Given the description of an element on the screen output the (x, y) to click on. 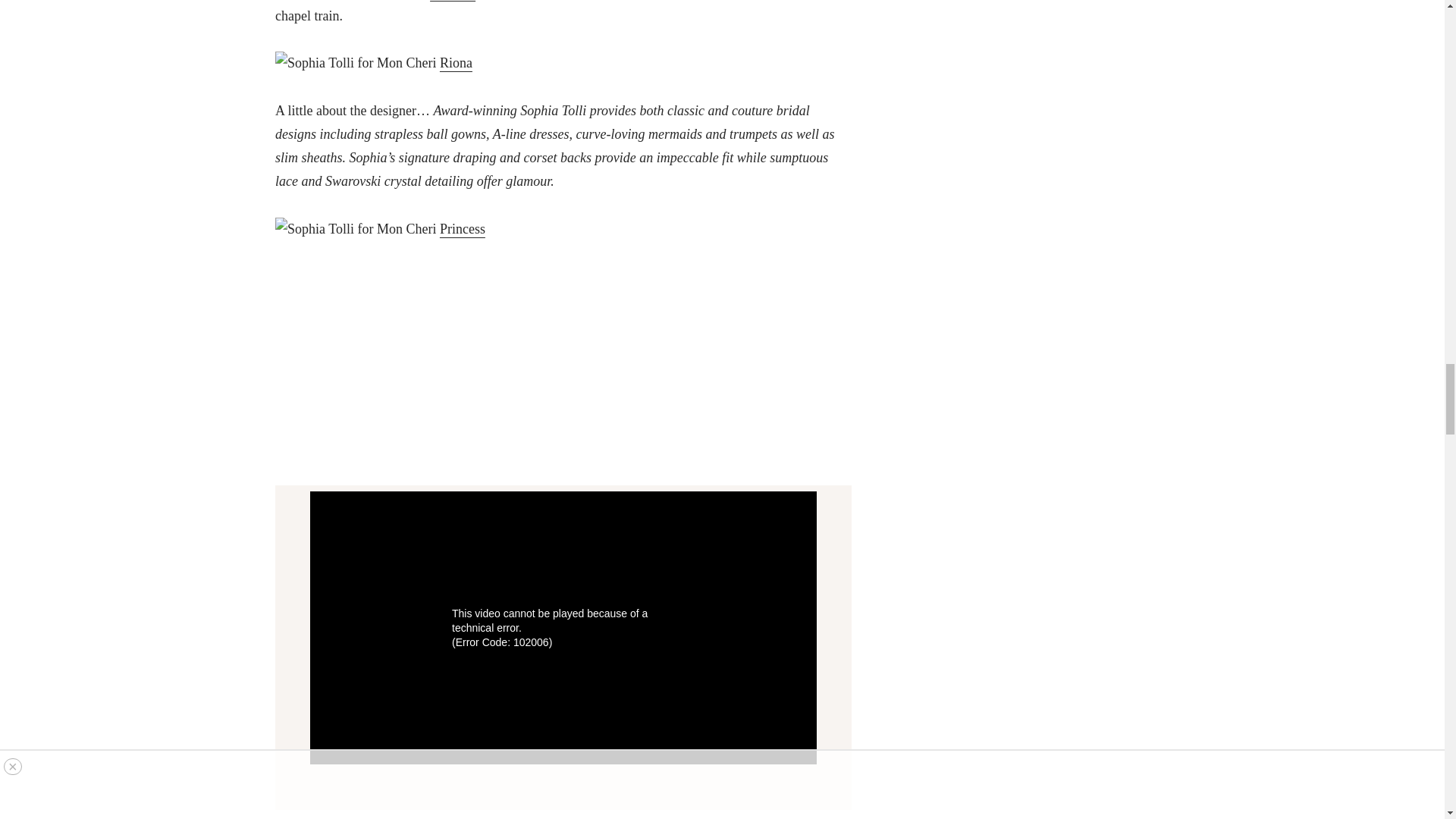
Princess (461, 228)
Riona (455, 62)
